Given the description of an element on the screen output the (x, y) to click on. 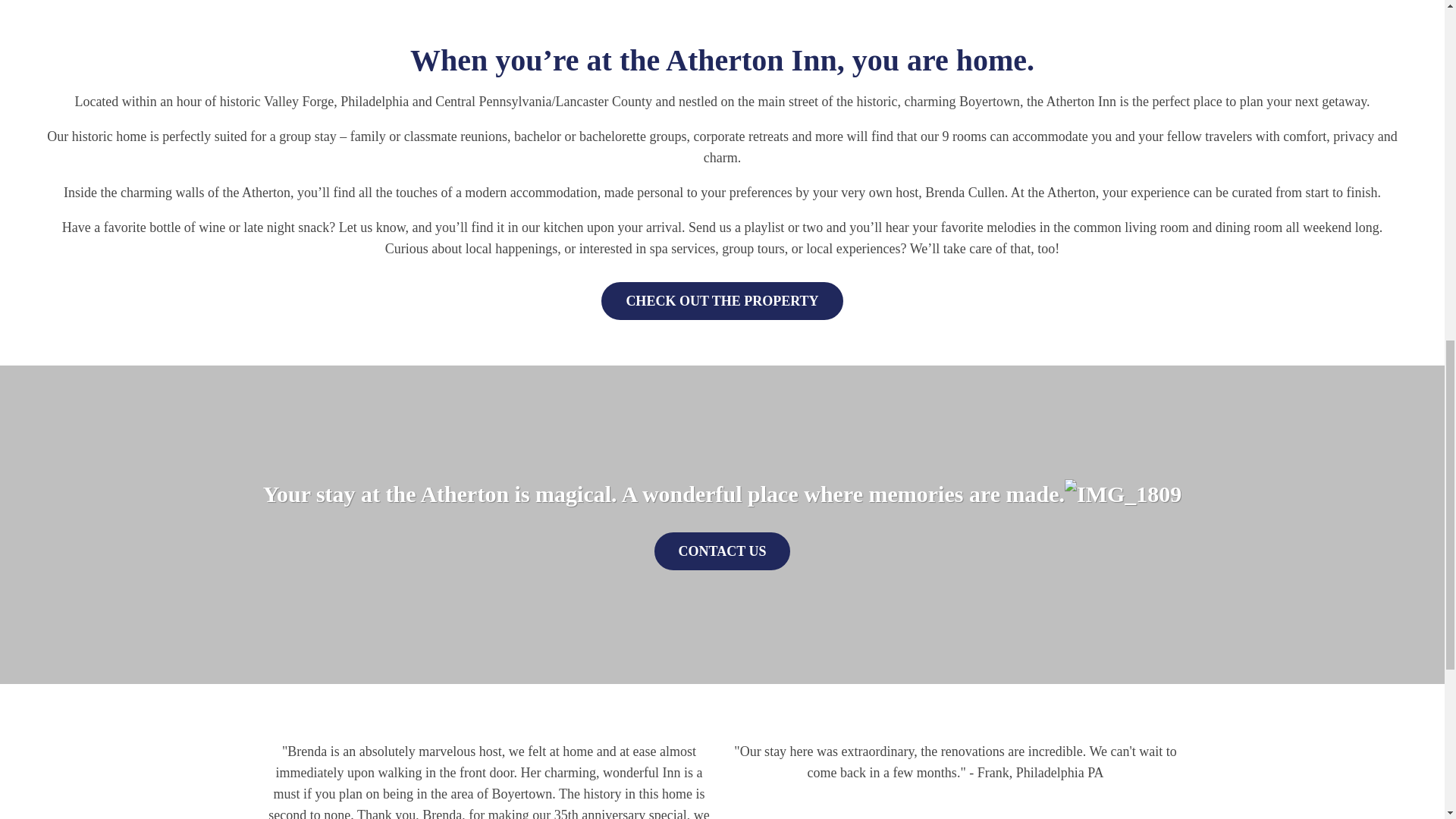
CHECK OUT THE PROPERTY (722, 300)
CONTACT US (721, 551)
